Given the description of an element on the screen output the (x, y) to click on. 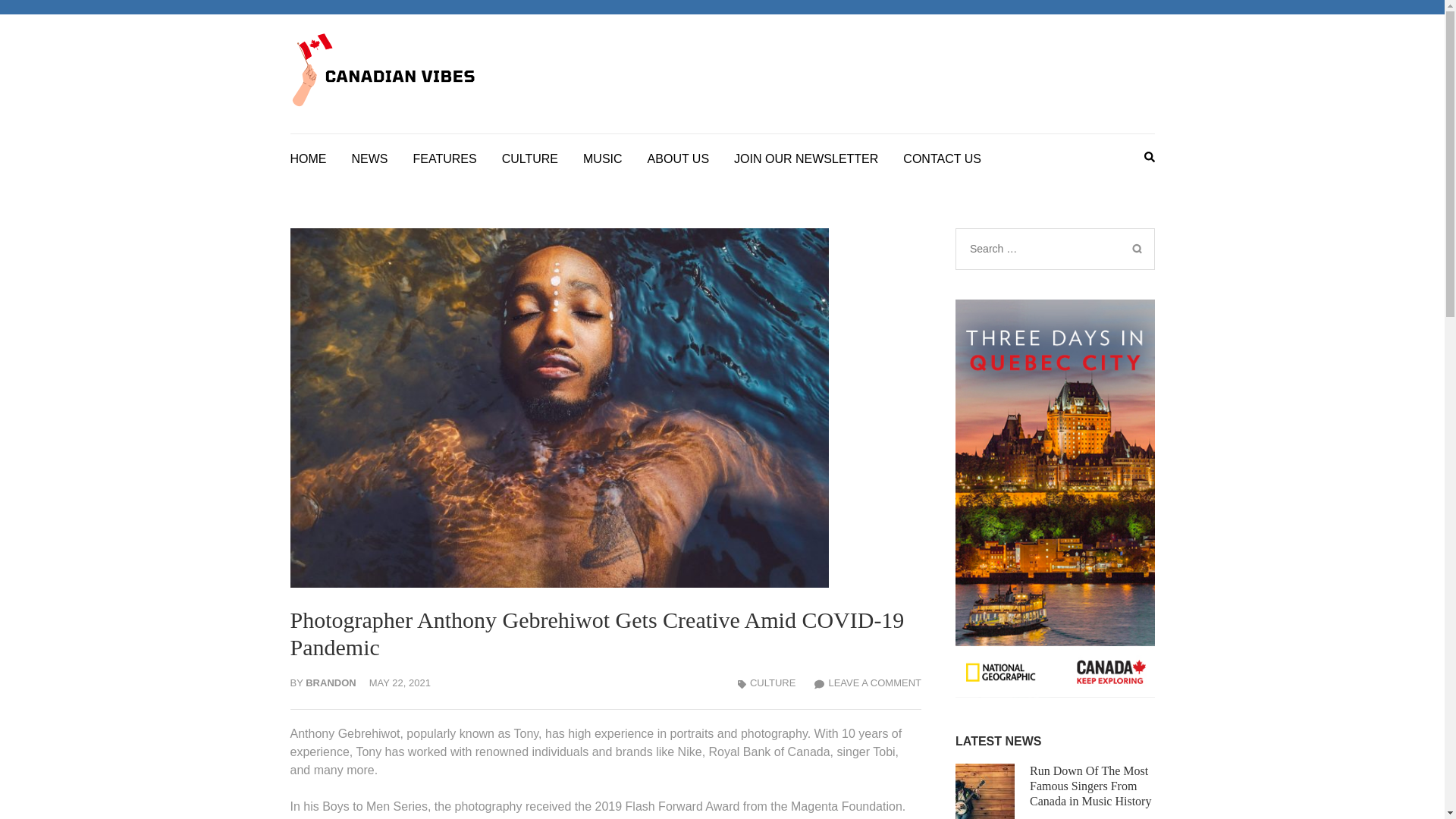
CULTURE (771, 682)
Search (1136, 247)
CONTACT US (941, 156)
JOIN OUR NEWSLETTER (805, 156)
Search (1136, 247)
ABOUT US (678, 156)
BRANDON (330, 682)
MAY 22, 2021 (399, 682)
CULTURE (529, 156)
FEATURES (444, 156)
CANADIAN VIBES (807, 89)
Search (1136, 247)
